Given the description of an element on the screen output the (x, y) to click on. 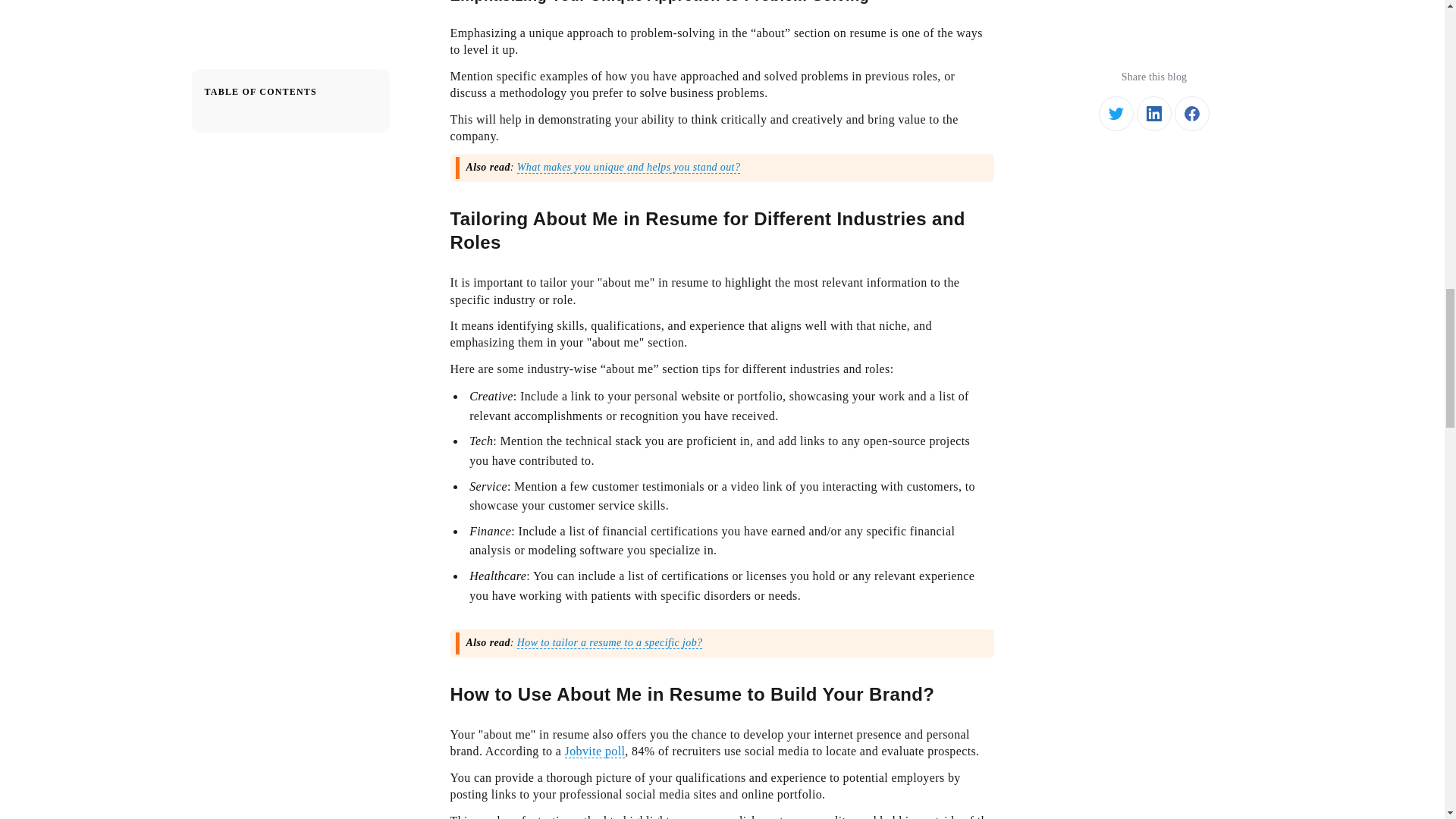
Jobvite poll (595, 751)
How to tailor a resume to a specific job? (609, 643)
What makes you unique and helps you stand out? (628, 167)
